Given the description of an element on the screen output the (x, y) to click on. 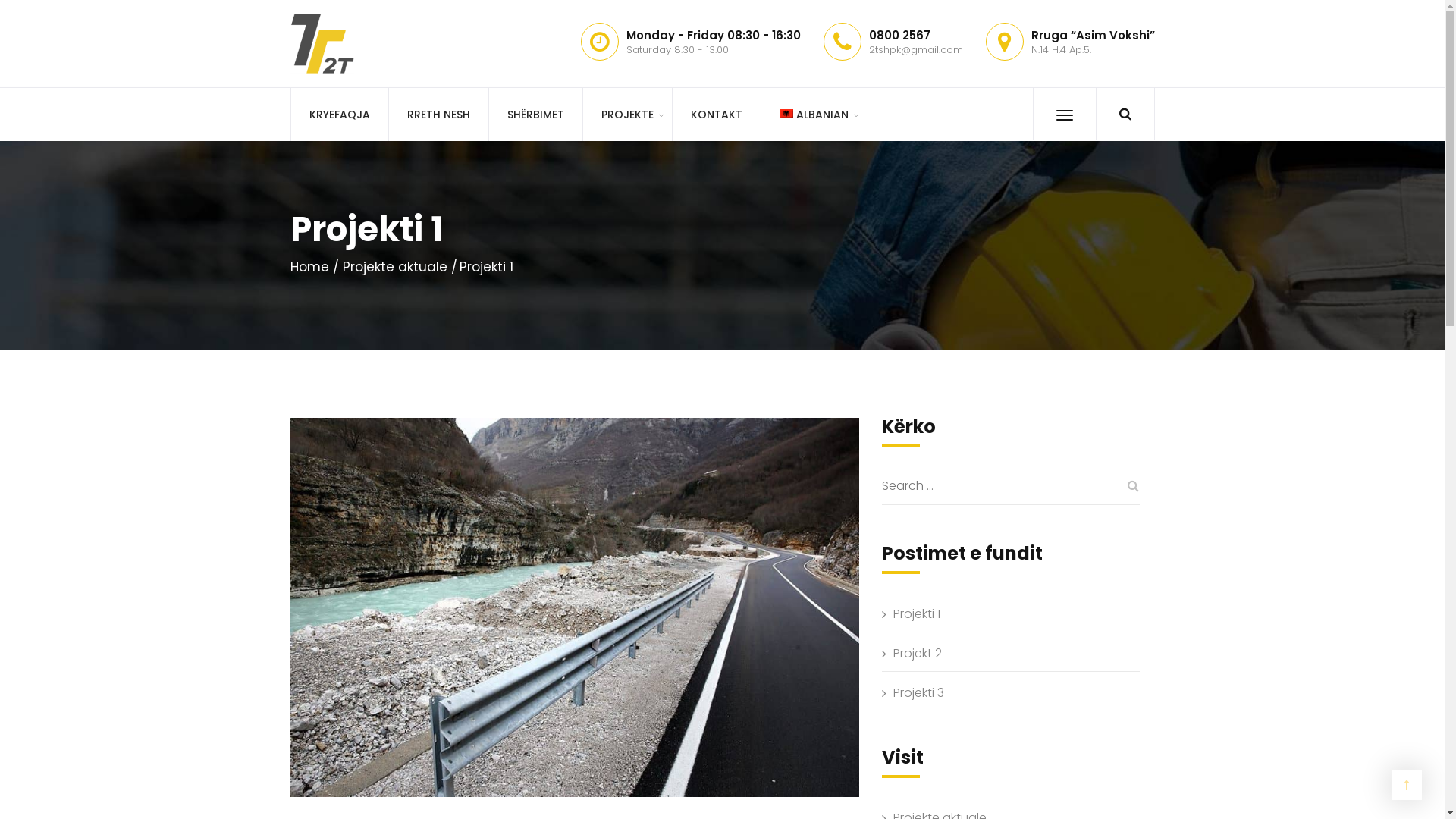
Projekt 2 Element type: text (1016, 653)
Projekti 1 Element type: text (1016, 614)
KRYEFAQJA Element type: text (338, 114)
PROJEKTE Element type: text (626, 114)
RRETH NESH Element type: text (438, 114)
Projekte aktuale Element type: text (399, 266)
ALBANIAN Element type: text (812, 114)
KONTAKT Element type: text (715, 114)
Projekti 3 Element type: text (1016, 692)
Home Element type: text (313, 266)
